Given the description of an element on the screen output the (x, y) to click on. 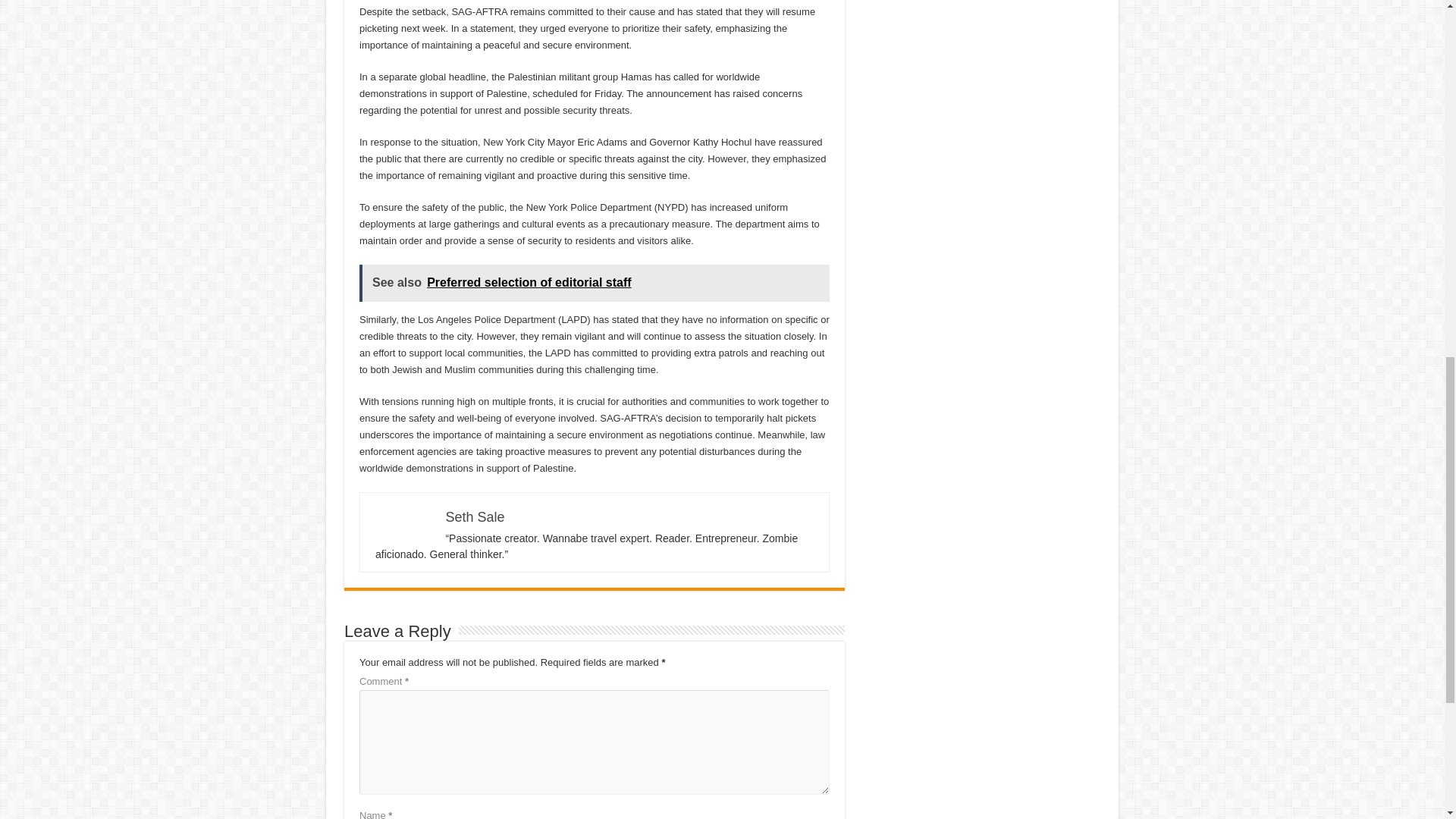
Seth Sale (474, 516)
See also  Preferred selection of editorial staff (594, 283)
